Given the description of an element on the screen output the (x, y) to click on. 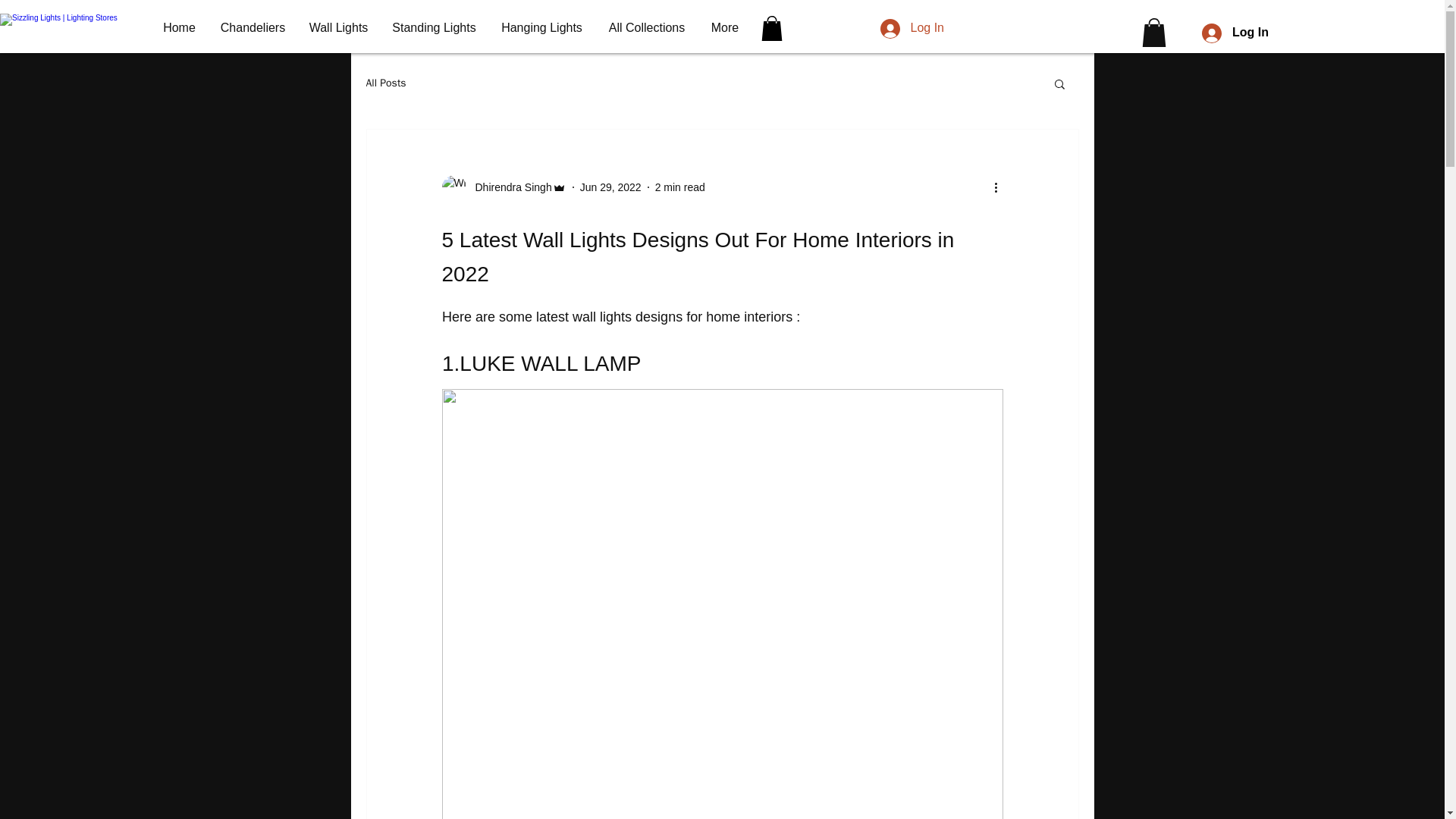
All Collections (646, 27)
Dhirendra Singh (503, 187)
Hanging Lights (541, 27)
Home (178, 27)
Log In (1235, 32)
Standing Lights (433, 27)
Chandeliers (252, 27)
Dhirendra Singh  (508, 187)
Wall Lights (338, 27)
2 min read (679, 186)
Log In (912, 27)
Jun 29, 2022 (610, 186)
All Posts (385, 83)
